Given the description of an element on the screen output the (x, y) to click on. 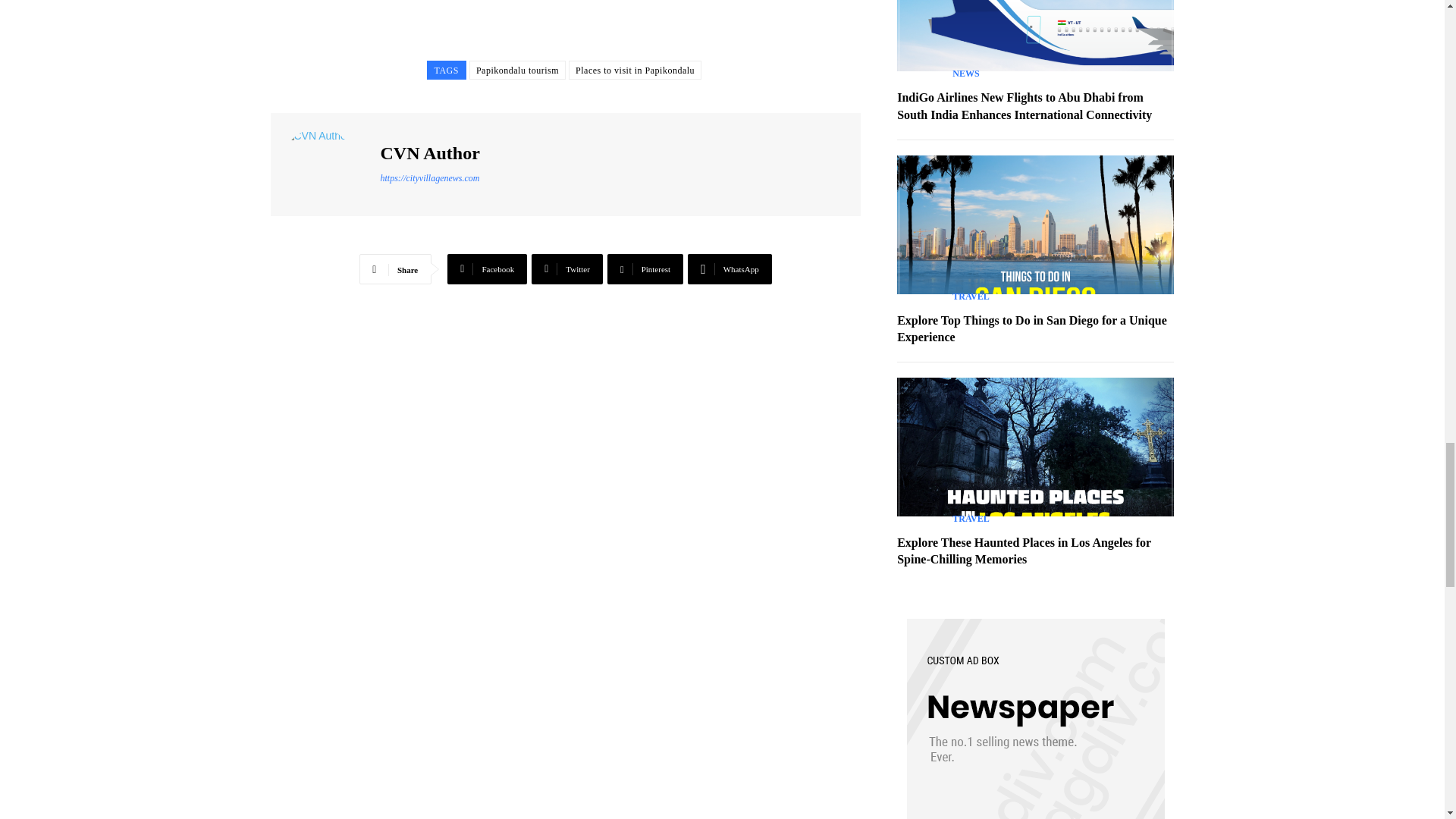
CVN Author (327, 163)
Facebook (486, 268)
Twitter (566, 268)
